Given the description of an element on the screen output the (x, y) to click on. 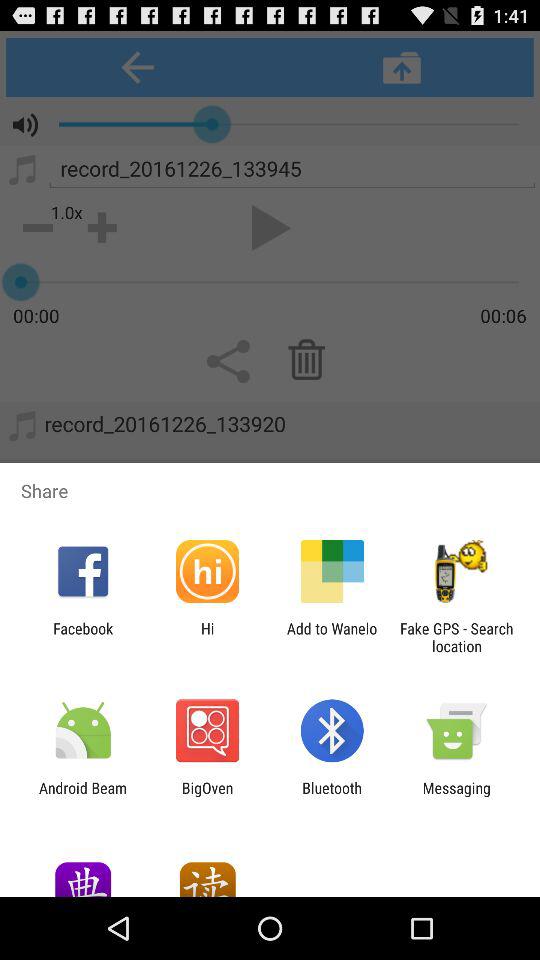
launch the item next to the bluetooth icon (207, 796)
